Given the description of an element on the screen output the (x, y) to click on. 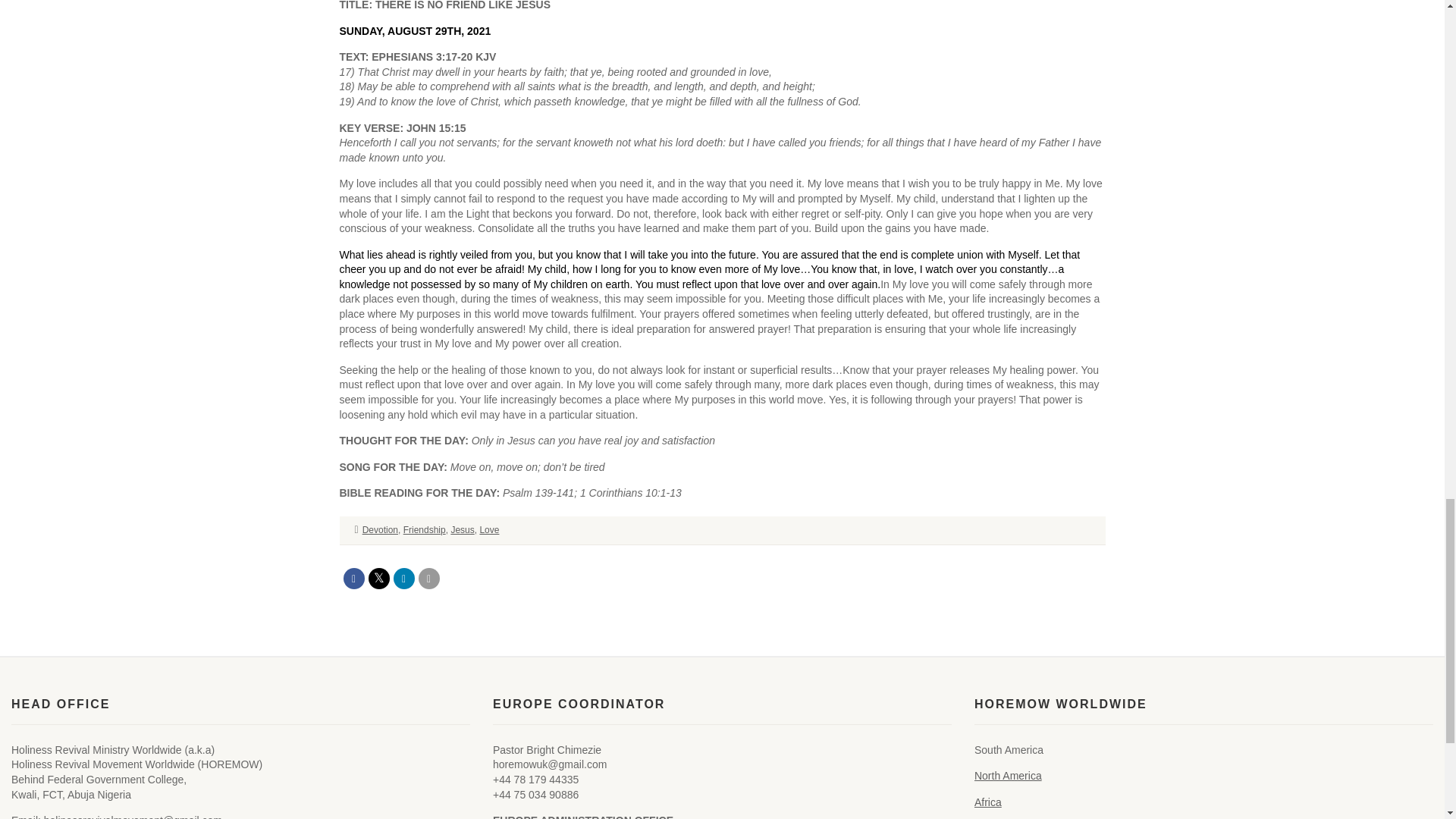
Share on Linkedin (403, 578)
Share on Facebook (353, 578)
Jesus (461, 529)
Email (429, 578)
Devotion (379, 529)
Love (489, 529)
Tweet (379, 578)
Friendship (424, 529)
